Given the description of an element on the screen output the (x, y) to click on. 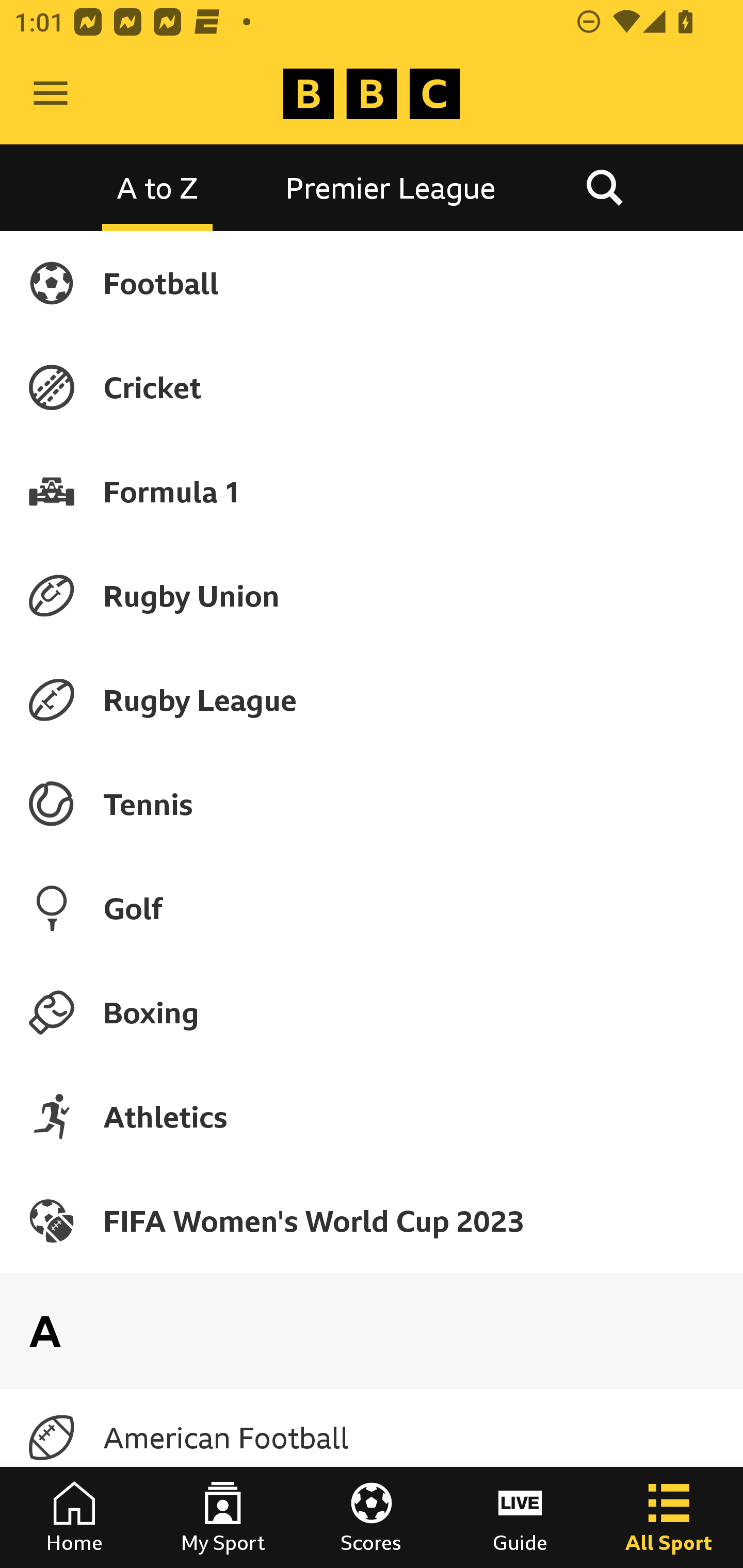
Open Menu (50, 93)
Premier League (390, 187)
Search (604, 187)
Football (371, 282)
Cricket (371, 387)
Formula 1 (371, 491)
Rugby Union (371, 595)
Rugby League (371, 699)
Tennis (371, 804)
Golf (371, 907)
Boxing (371, 1011)
Athletics (371, 1116)
FIFA Women's World Cup 2023 (371, 1220)
American Football (371, 1437)
Home (74, 1517)
My Sport (222, 1517)
Scores (371, 1517)
Guide (519, 1517)
